Given the description of an element on the screen output the (x, y) to click on. 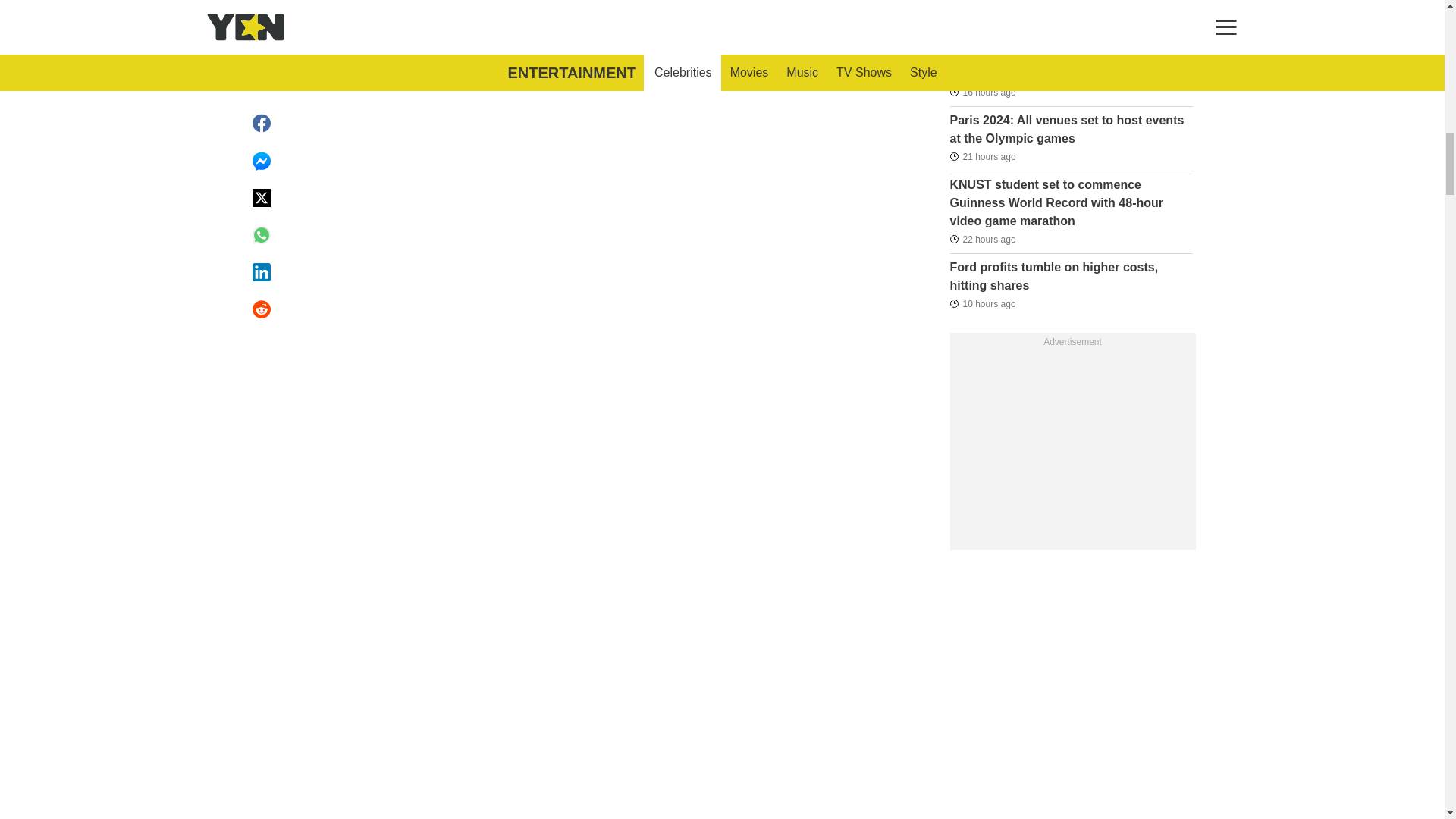
2024-07-24T11:12:11Z (981, 9)
2024-07-24T10:21:33Z (981, 239)
2024-07-24T21:42:03Z (981, 303)
2024-07-24T16:03:58Z (981, 92)
2024-07-24T10:48:03Z (981, 156)
